Given the description of an element on the screen output the (x, y) to click on. 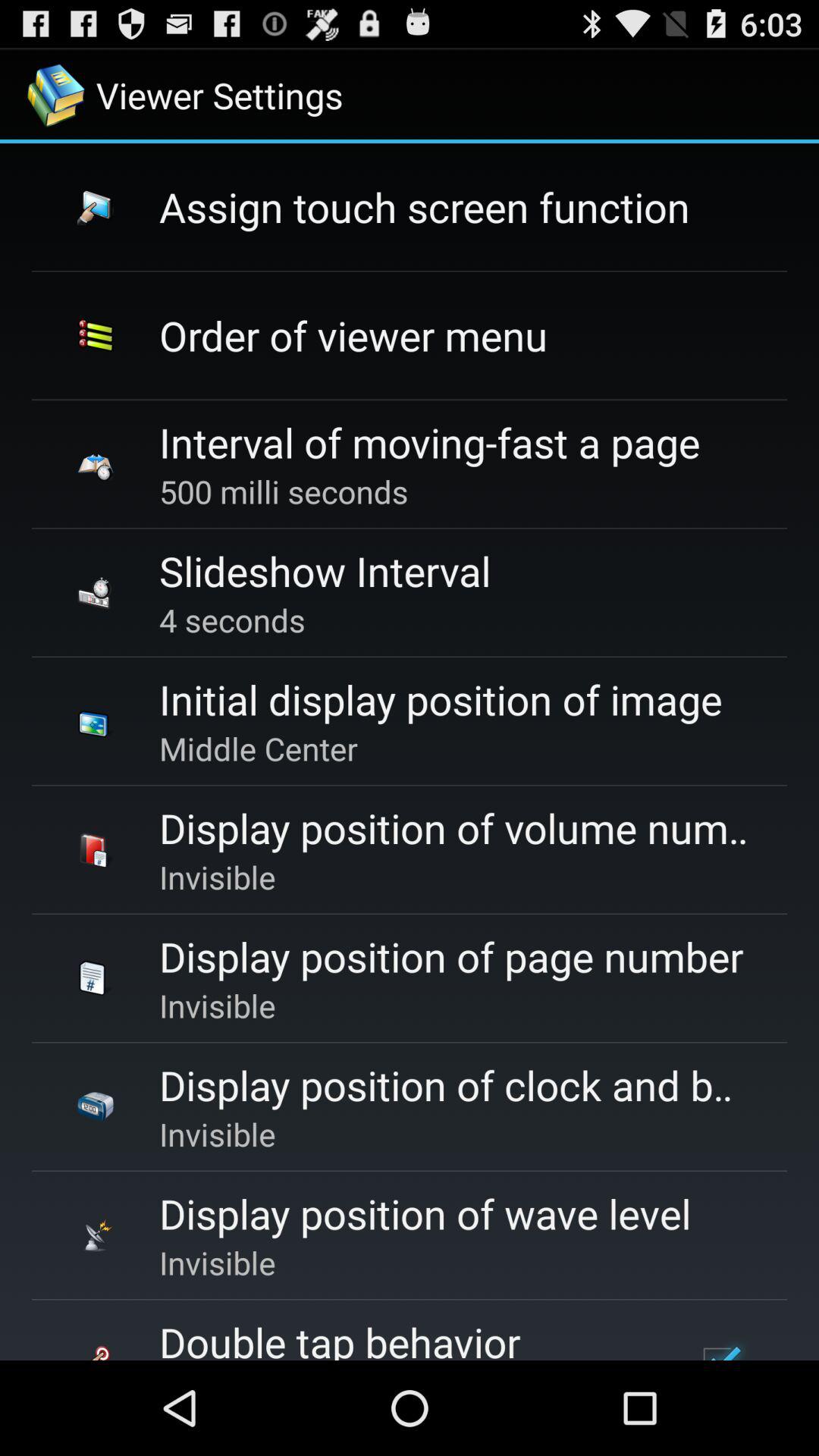
swipe to the order of viewer item (353, 334)
